Given the description of an element on the screen output the (x, y) to click on. 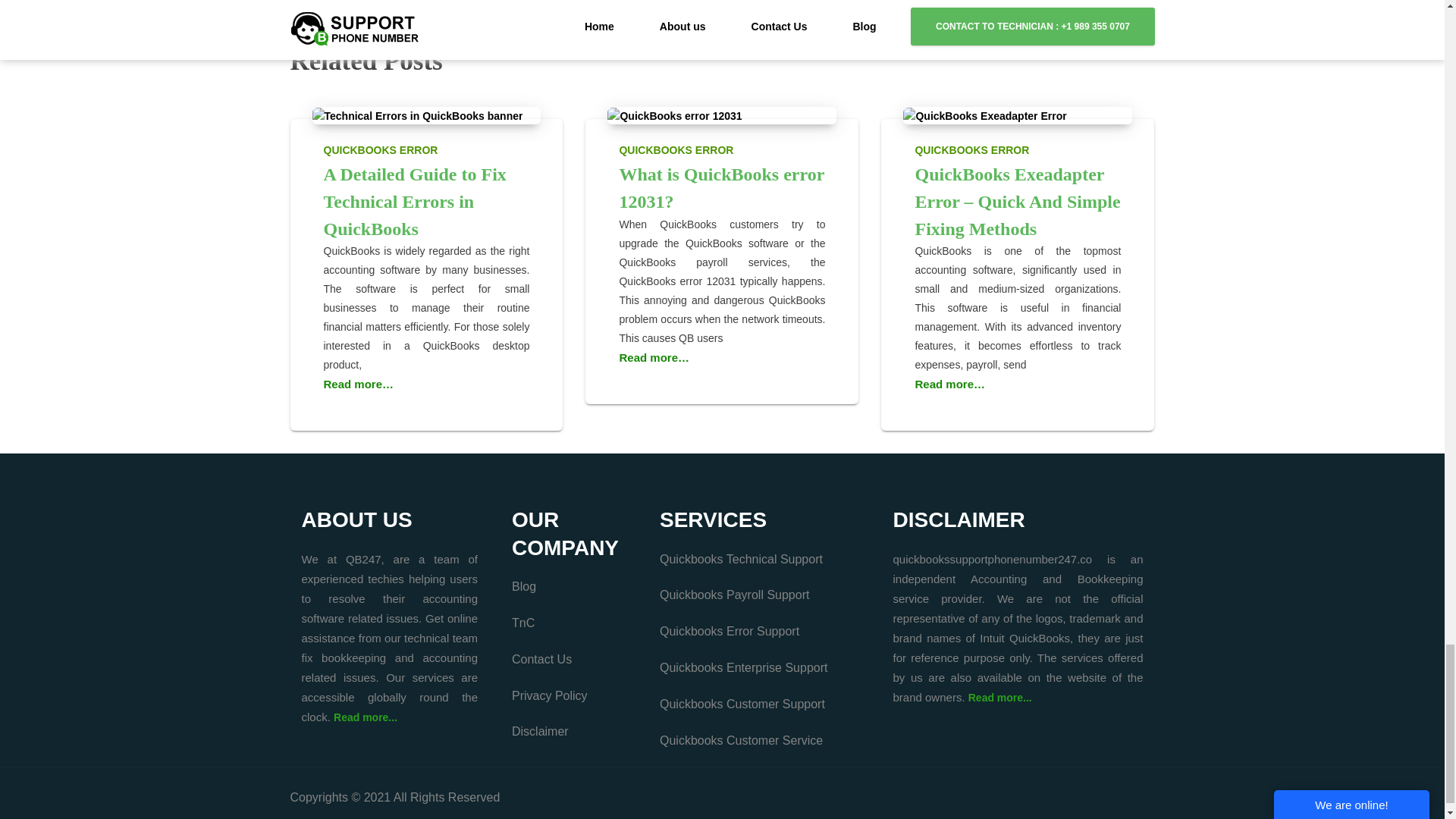
QuickBooks Update Error 15106 (517, 3)
A Detailed Guide to Fix Technical Errors in QuickBooks (414, 201)
View all posts in QuickBooks Error (721, 146)
What is QuickBooks error 12031? (721, 187)
View all posts in QuickBooks Error (1017, 146)
QuickBooks Update Error (359, 3)
What is QuickBooks error 12031? (674, 114)
A Detailed Guide to Fix Technical Errors in QuickBooks (417, 114)
View all posts in QuickBooks Error (426, 146)
